Given the description of an element on the screen output the (x, y) to click on. 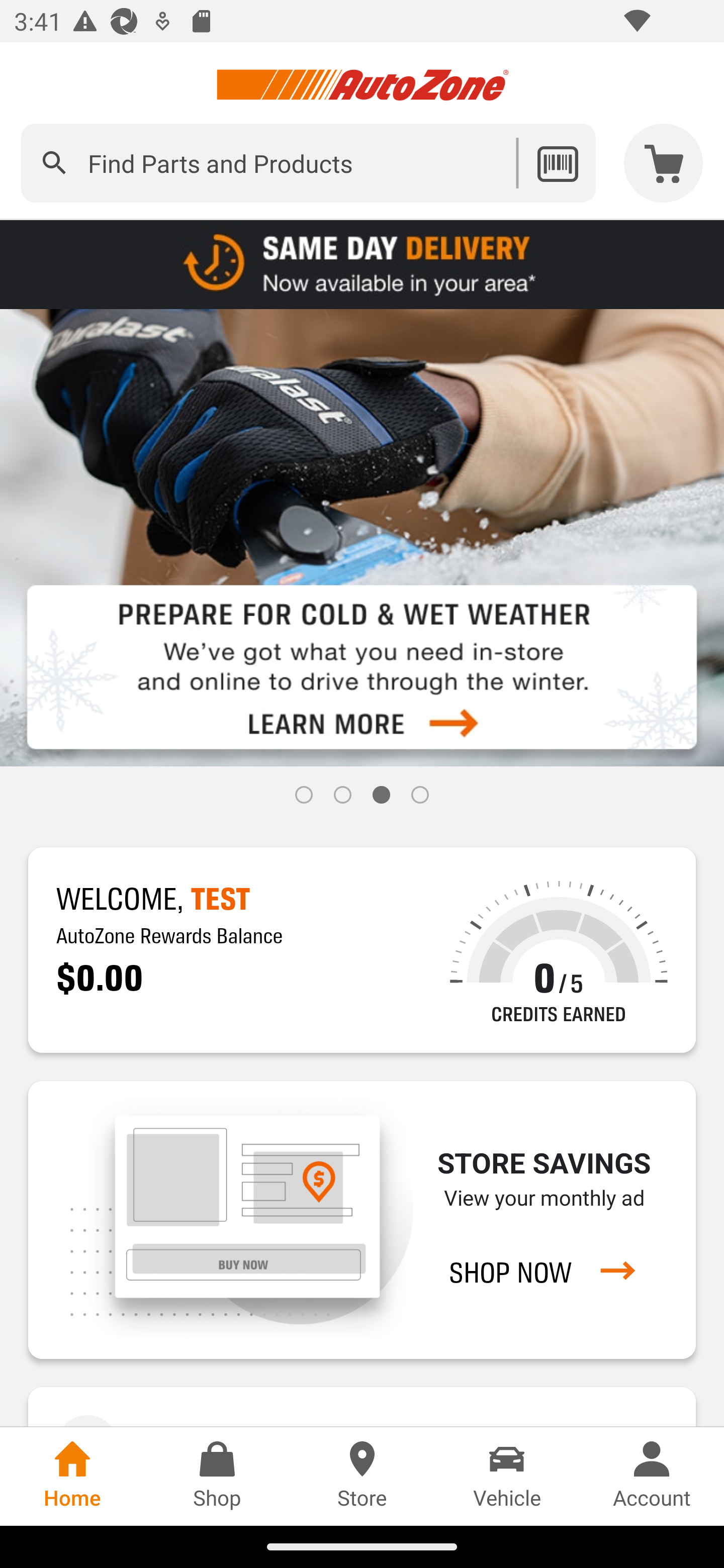
 scan-product-to-search  (557, 162)
 (54, 163)
Cart, no items  (663, 162)
Same Day Delivery - now available in your area* (362, 262)
Home (72, 1475)
Shop (216, 1475)
Store (361, 1475)
Vehicle (506, 1475)
Account (651, 1475)
